Given the description of an element on the screen output the (x, y) to click on. 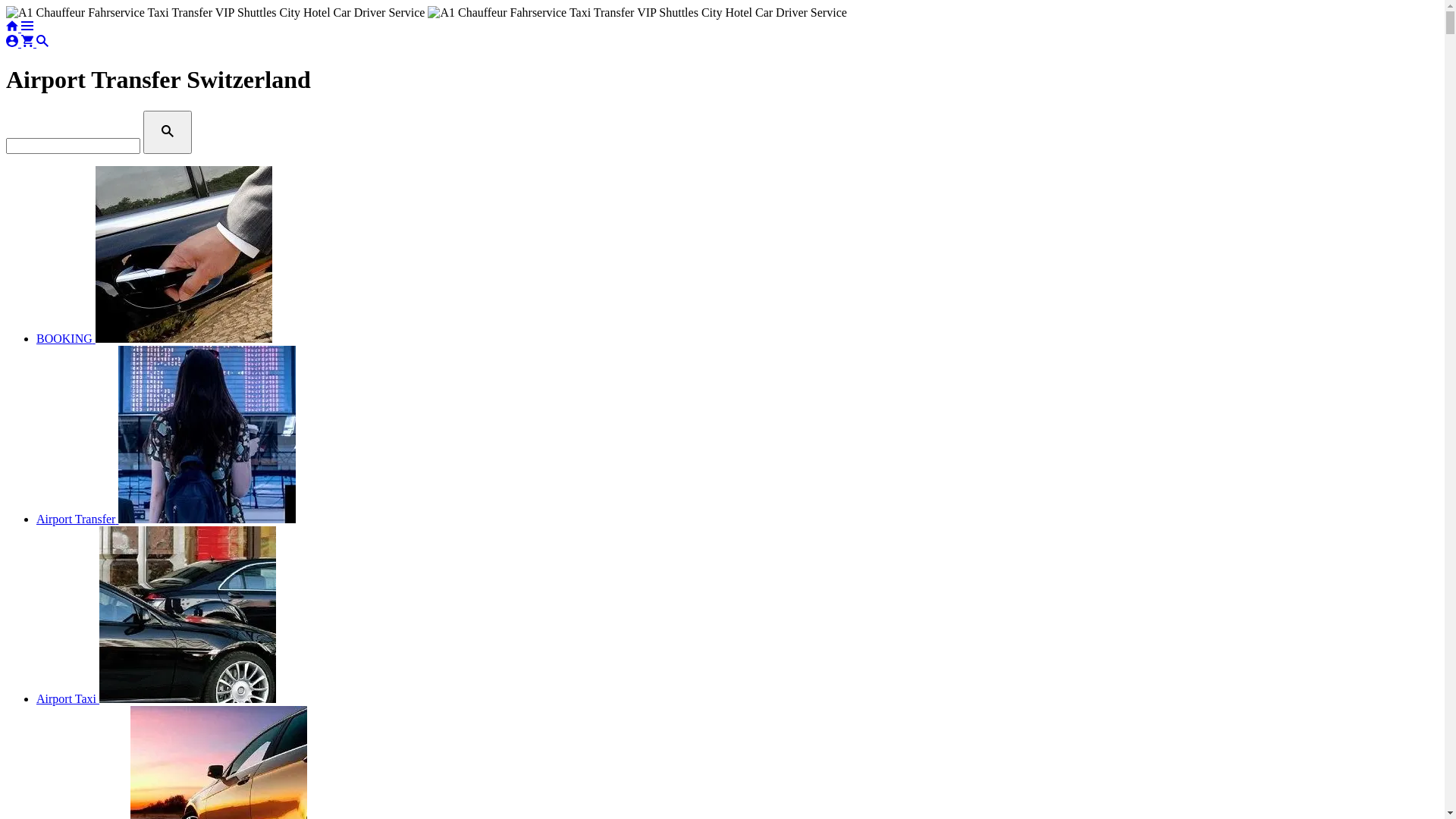
Airport Taxi Element type: text (156, 698)
BOOKING Element type: text (154, 338)
Airport Transfer Element type: text (165, 518)
